Given the description of an element on the screen output the (x, y) to click on. 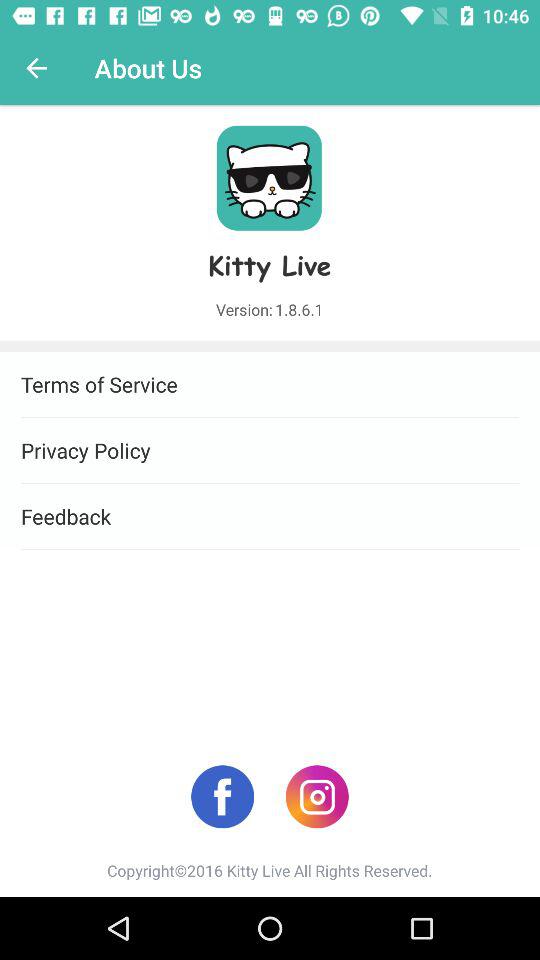
swipe until copyright 2016 kitty (269, 870)
